Given the description of an element on the screen output the (x, y) to click on. 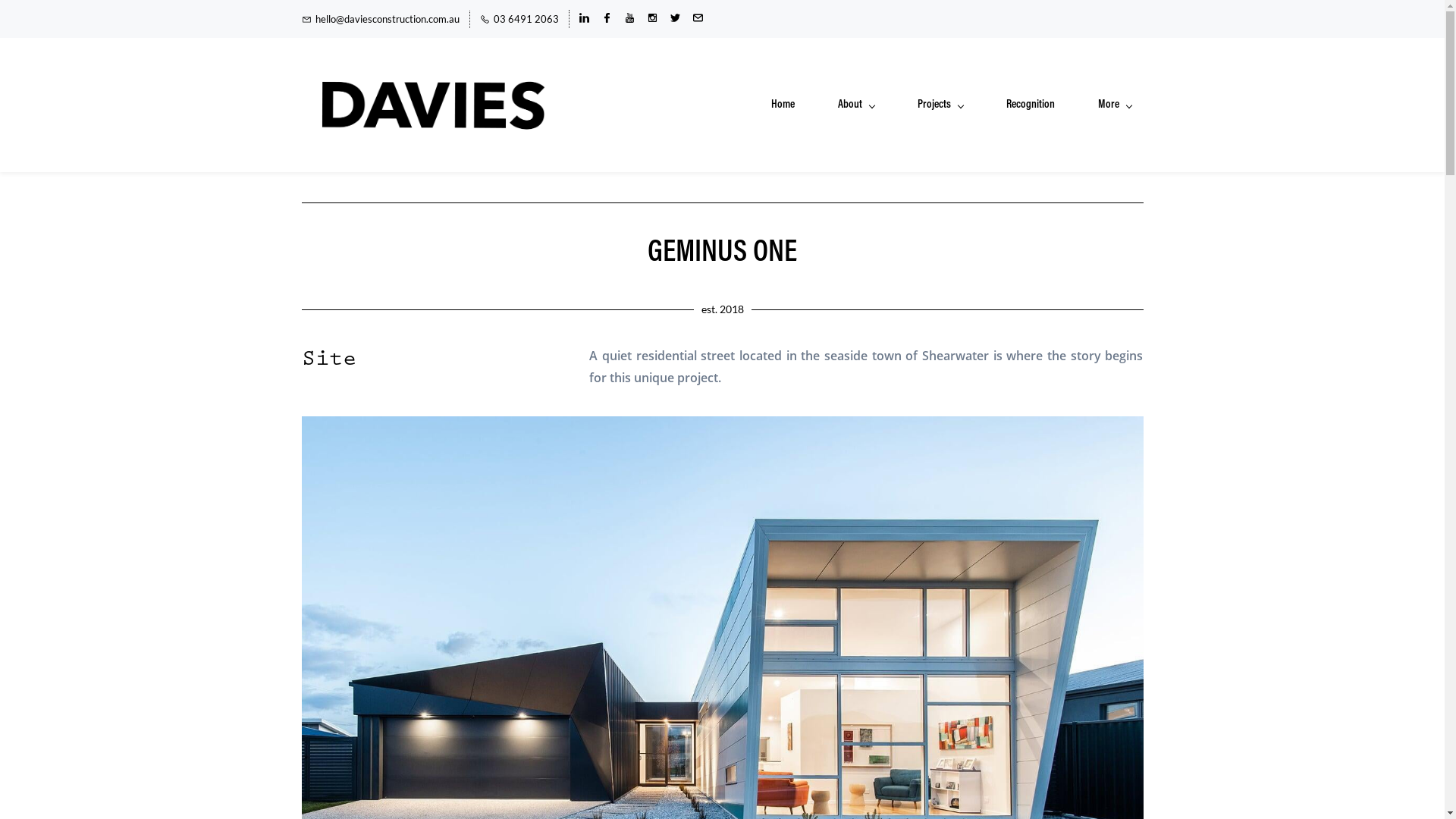
Recognition Element type: text (1029, 104)
Projects Element type: text (940, 104)
Home Element type: text (782, 104)
03 6491 2063 Element type: text (518, 19)
More Element type: text (1114, 104)
About Element type: text (855, 104)
hello@daviesconstruction.com.au Element type: text (380, 19)
